Given the description of an element on the screen output the (x, y) to click on. 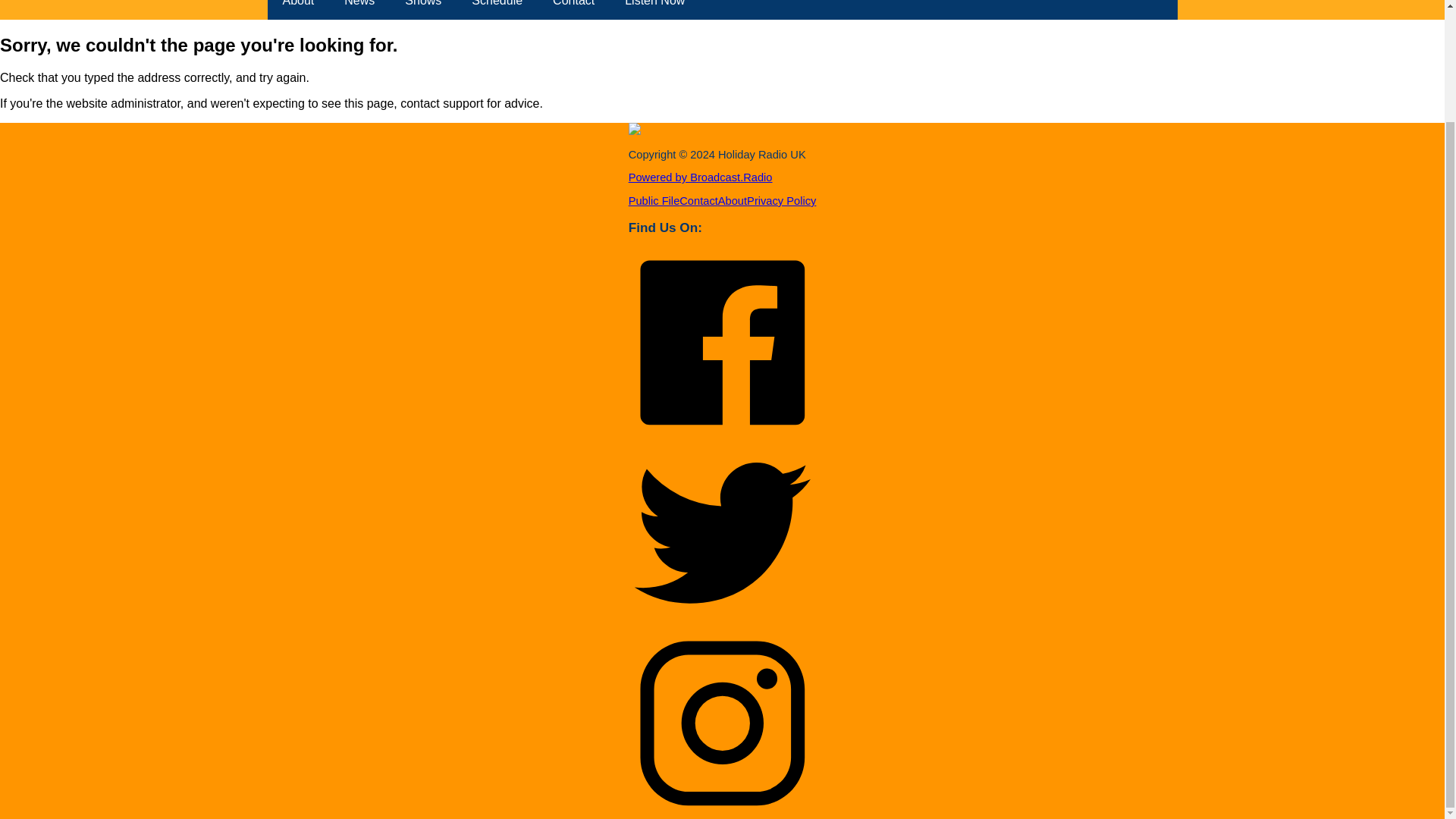
Contact (573, 9)
About (297, 9)
Listen Now (655, 9)
News (359, 9)
Contact (573, 9)
Powered by Broadcast.Radio (700, 177)
Privacy Policy (780, 200)
About (297, 9)
About (731, 200)
Shows (423, 9)
Schedule (497, 9)
Contact (698, 200)
Shows (423, 9)
News (359, 9)
Public File (653, 200)
